Given the description of an element on the screen output the (x, y) to click on. 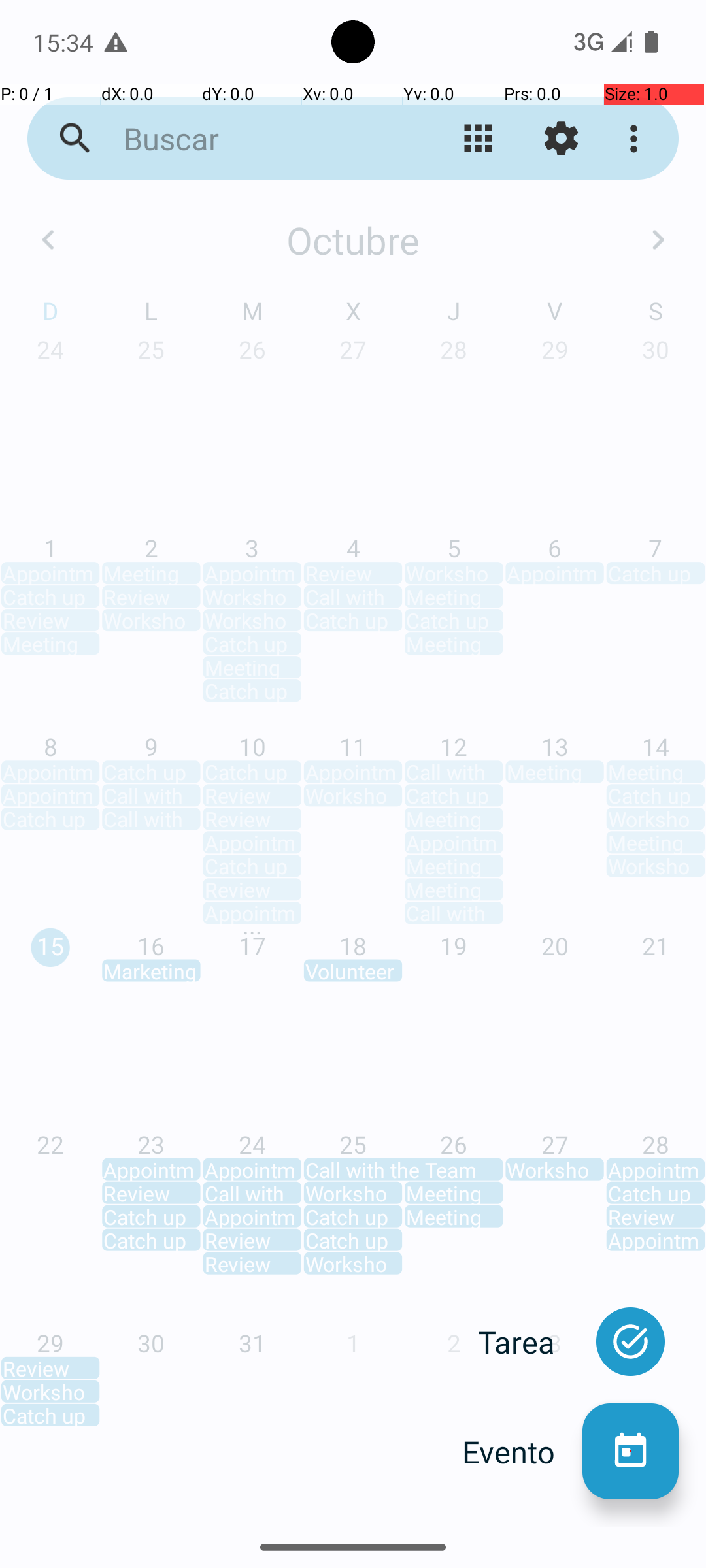
Tarea Element type: android.widget.TextView (529, 1341)
Evento Element type: android.widget.TextView (522, 1451)
